Given the description of an element on the screen output the (x, y) to click on. 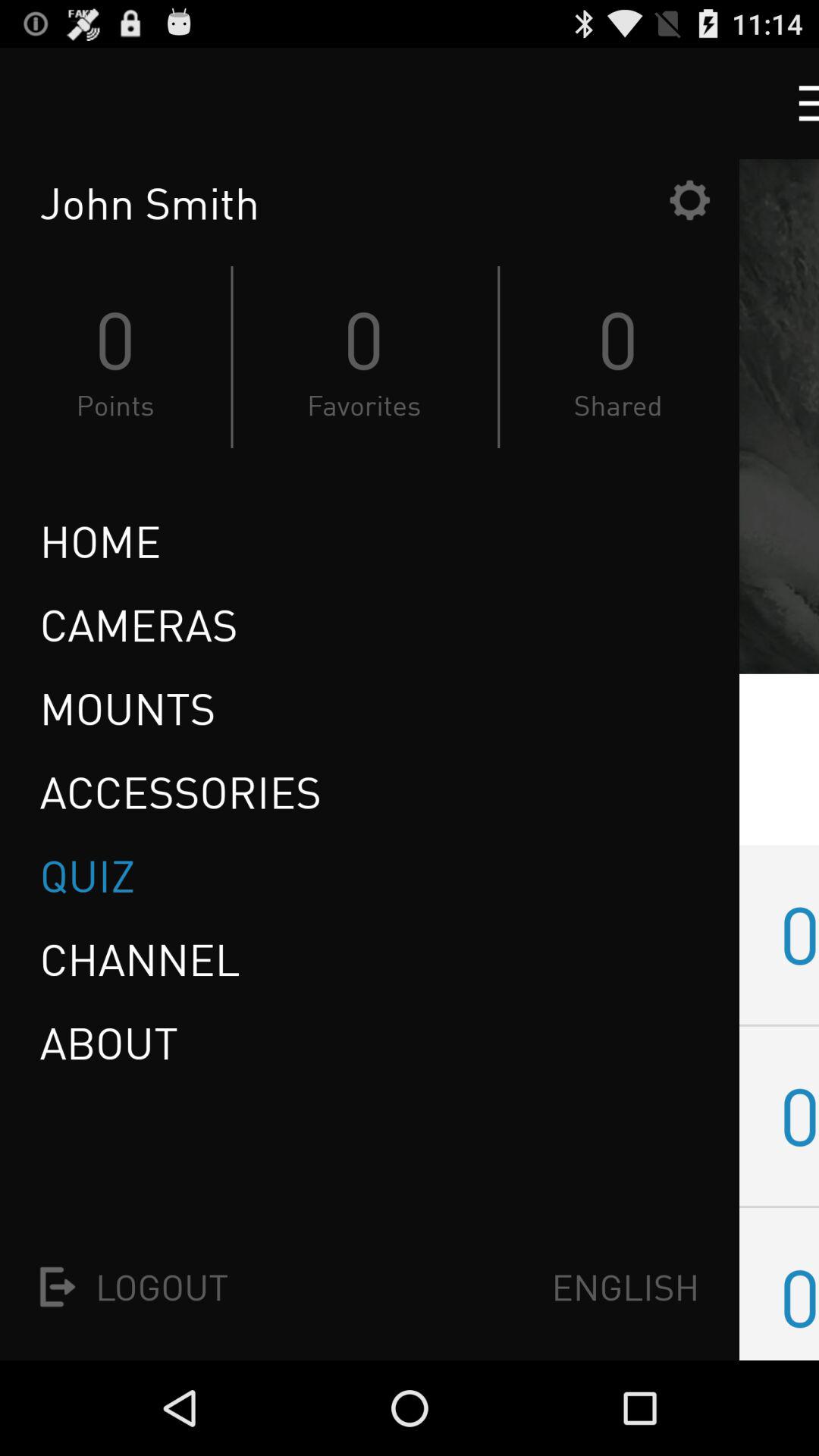
open icon above 02 icon (799, 934)
